Given the description of an element on the screen output the (x, y) to click on. 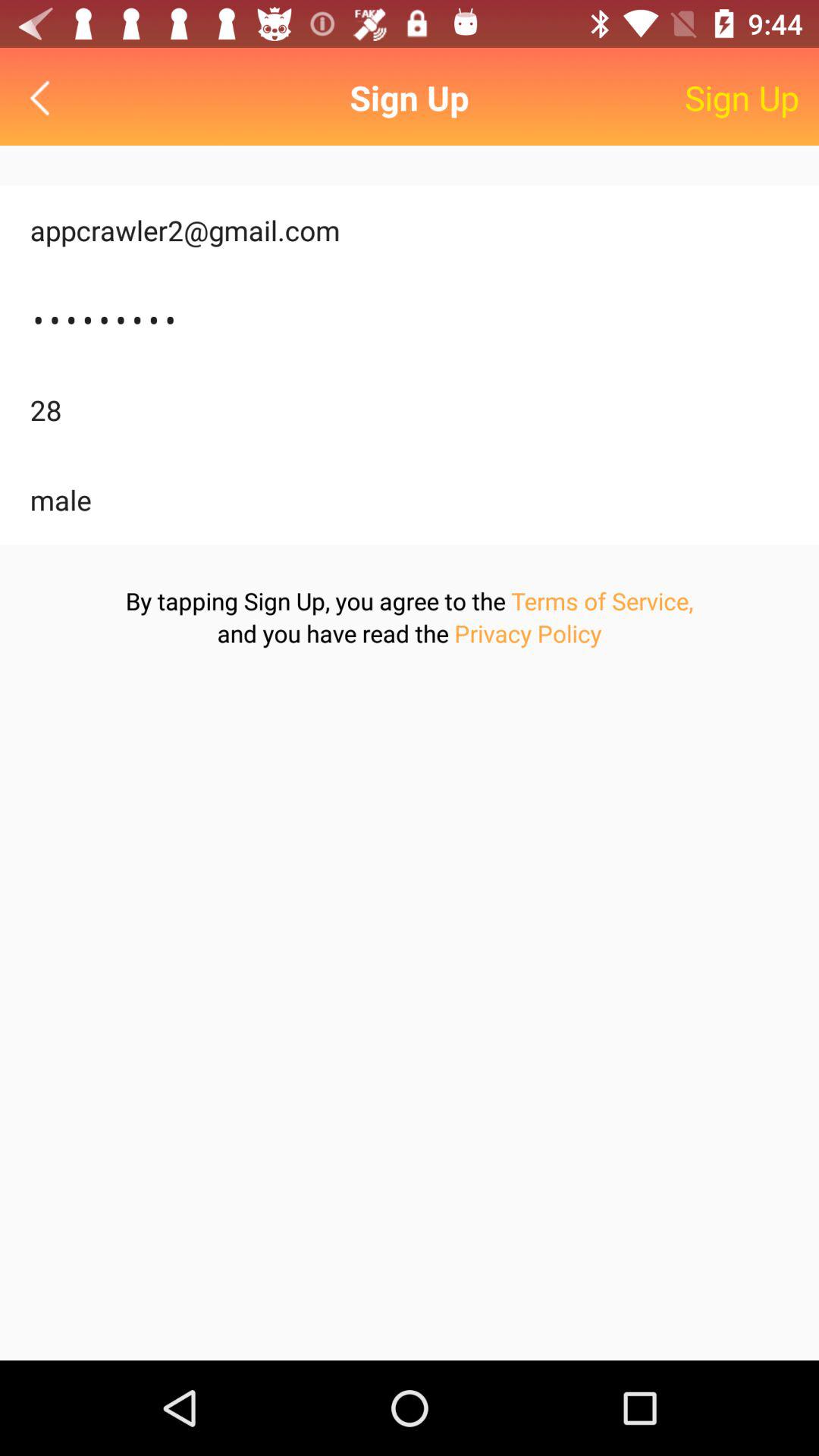
tap item below crowd3116 (409, 410)
